Given the description of an element on the screen output the (x, y) to click on. 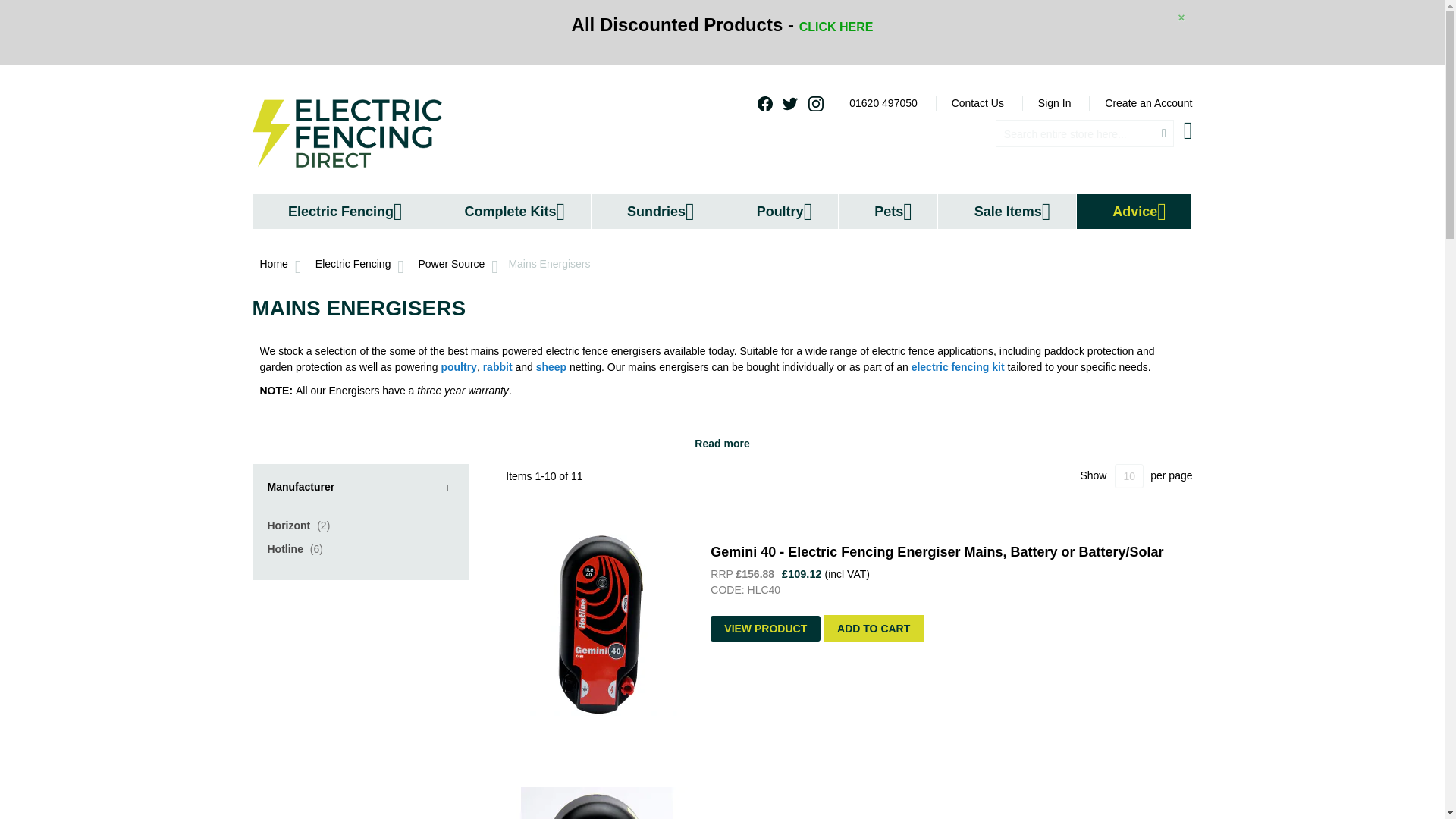
Twitter (790, 103)
Twitter (790, 103)
Find us on Instagram (816, 103)
My Cart (1187, 129)
01620 497050 (882, 103)
Electric Fencing Direct (346, 133)
Instagram (816, 103)
Find us on Twitter (790, 103)
Electric Fencing (339, 212)
Find us on Facebook (765, 103)
Add to Cart (873, 628)
SEARCH (1163, 133)
CLICK HERE (836, 26)
Facebook (765, 103)
Sign In (1054, 103)
